Given the description of an element on the screen output the (x, y) to click on. 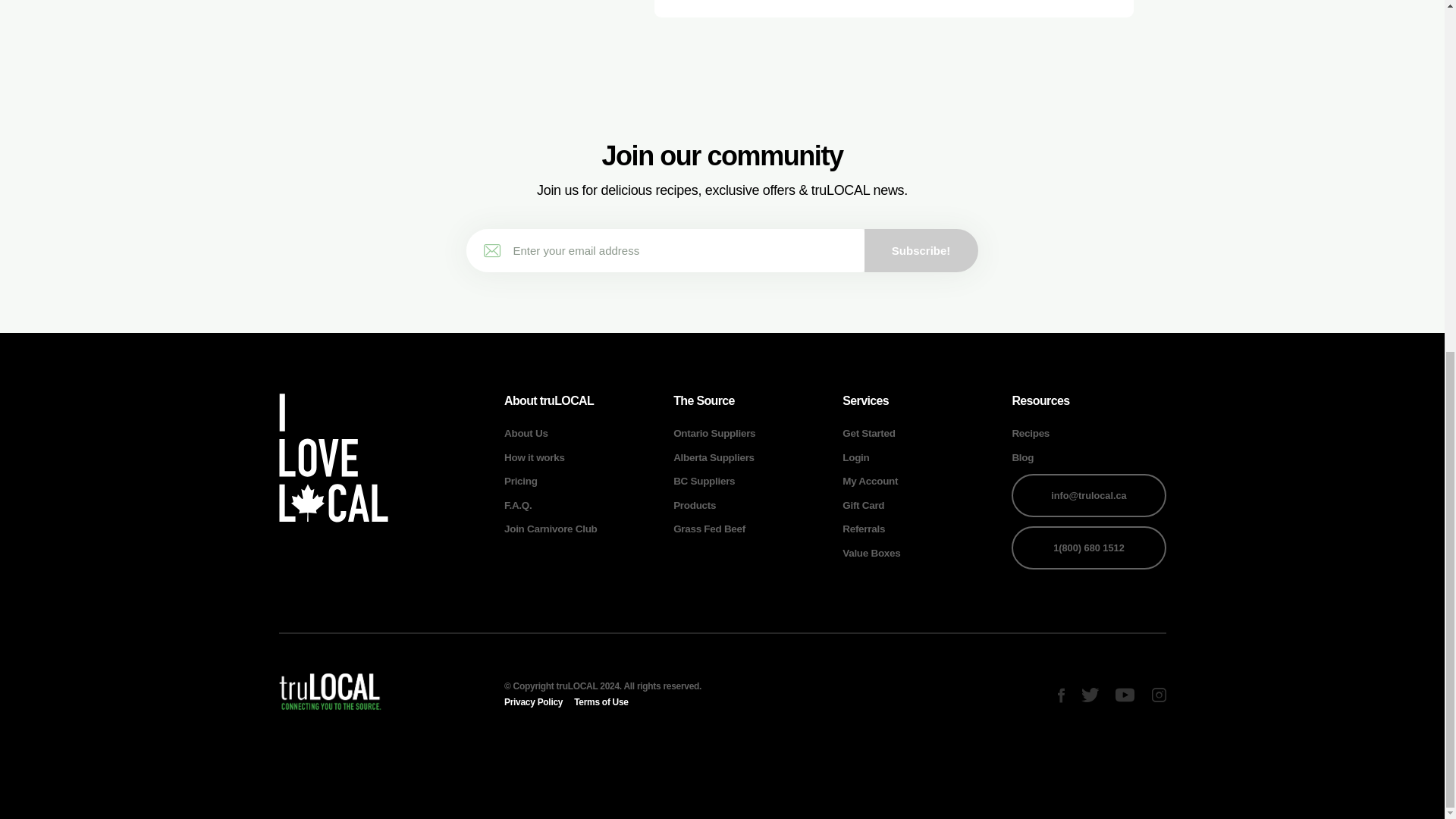
Grass Fed Beef (708, 528)
F.A.Q. (517, 505)
Alberta Suppliers (713, 457)
Join Carnivore Club (549, 528)
Ontario Suppliers (713, 432)
Pricing (520, 480)
Get Started (869, 432)
Referrals (864, 528)
Products (694, 505)
Recipes (1030, 432)
About Us (525, 432)
Gift Card (863, 505)
Blog (1022, 457)
Subscribe! (921, 250)
My Account (870, 480)
